Given the description of an element on the screen output the (x, y) to click on. 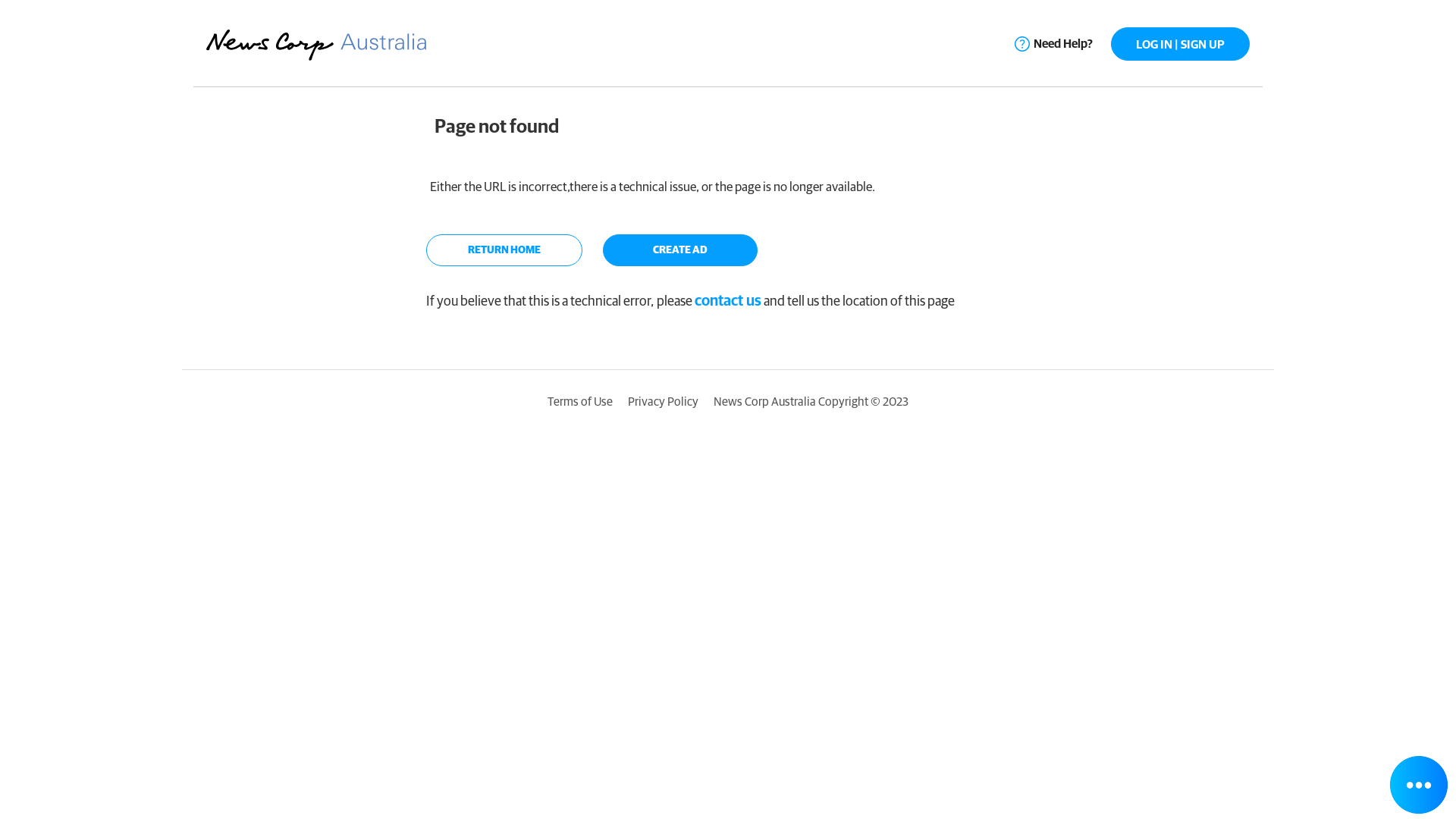
LOG IN | SIGN UP Element type: text (1179, 43)
RETURN HOME Element type: text (504, 250)
contact us Element type: text (727, 301)
Need Help? Element type: text (1053, 43)
Terms of Use Element type: text (579, 401)
CREATE AD Element type: text (679, 250)
Privacy Policy Element type: text (662, 401)
